Given the description of an element on the screen output the (x, y) to click on. 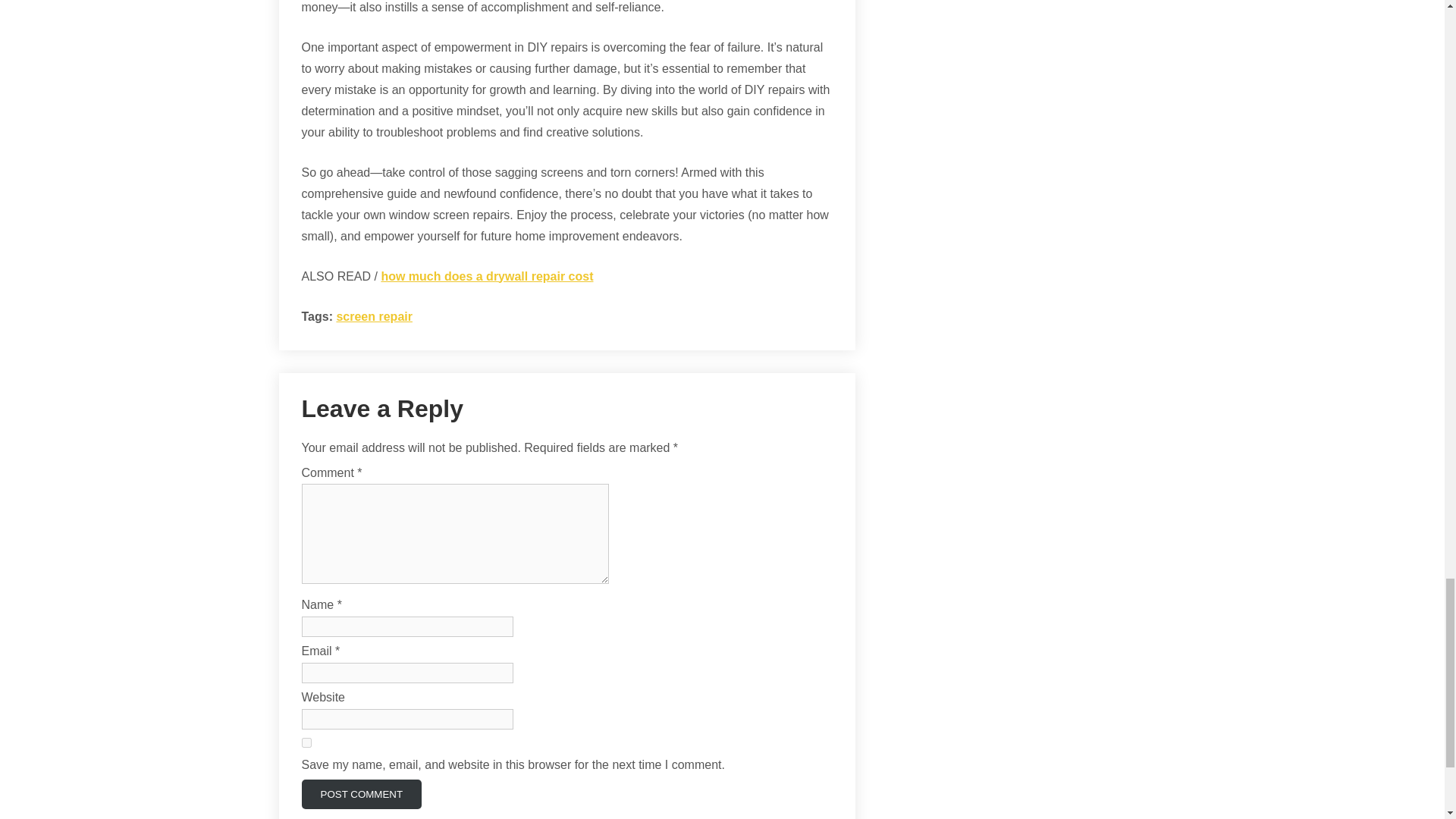
screen repair (374, 315)
yes (306, 742)
Post Comment (361, 794)
Post Comment (361, 794)
how much does a drywall repair cost (486, 276)
